Given the description of an element on the screen output the (x, y) to click on. 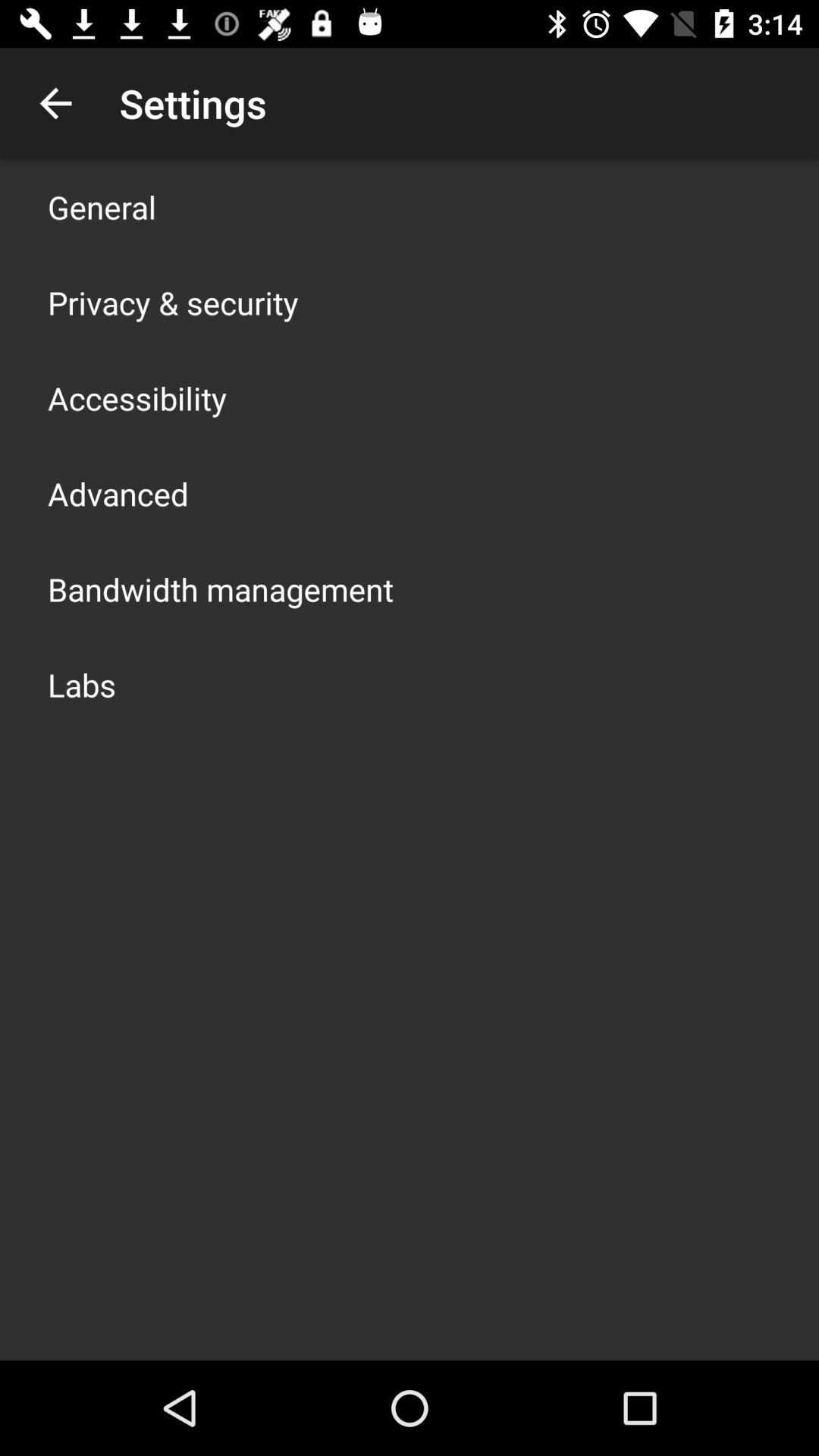
turn off icon above advanced icon (136, 397)
